Given the description of an element on the screen output the (x, y) to click on. 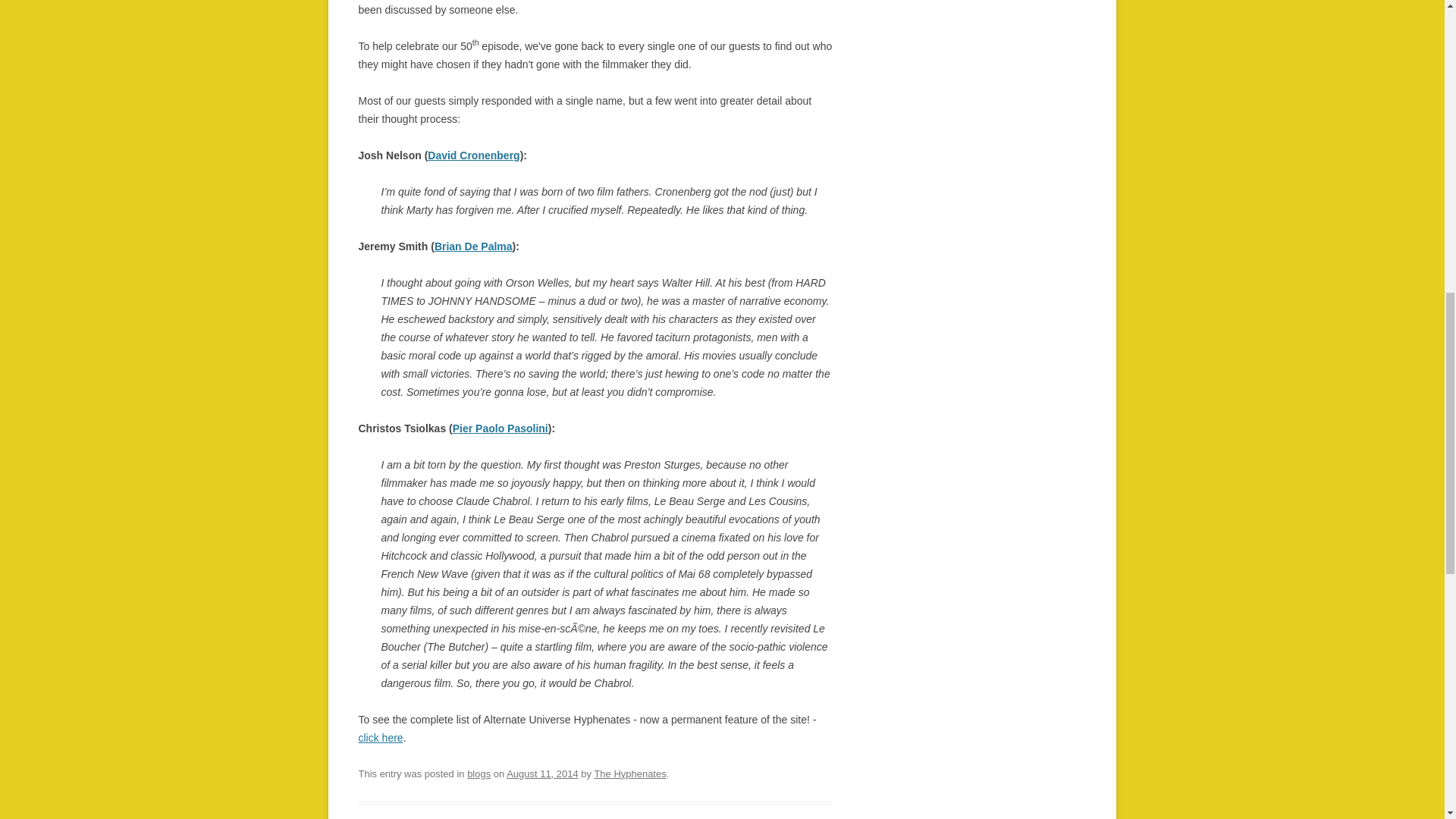
August 11, 2014 (542, 773)
The Hyphenates (629, 773)
12:03 pm (542, 773)
View all posts by The Hyphenates (629, 773)
David Cronenberg (473, 155)
Brian De Palma (472, 246)
click here (380, 737)
Pier Paolo Pasolini (500, 428)
blogs (478, 773)
